Given the description of an element on the screen output the (x, y) to click on. 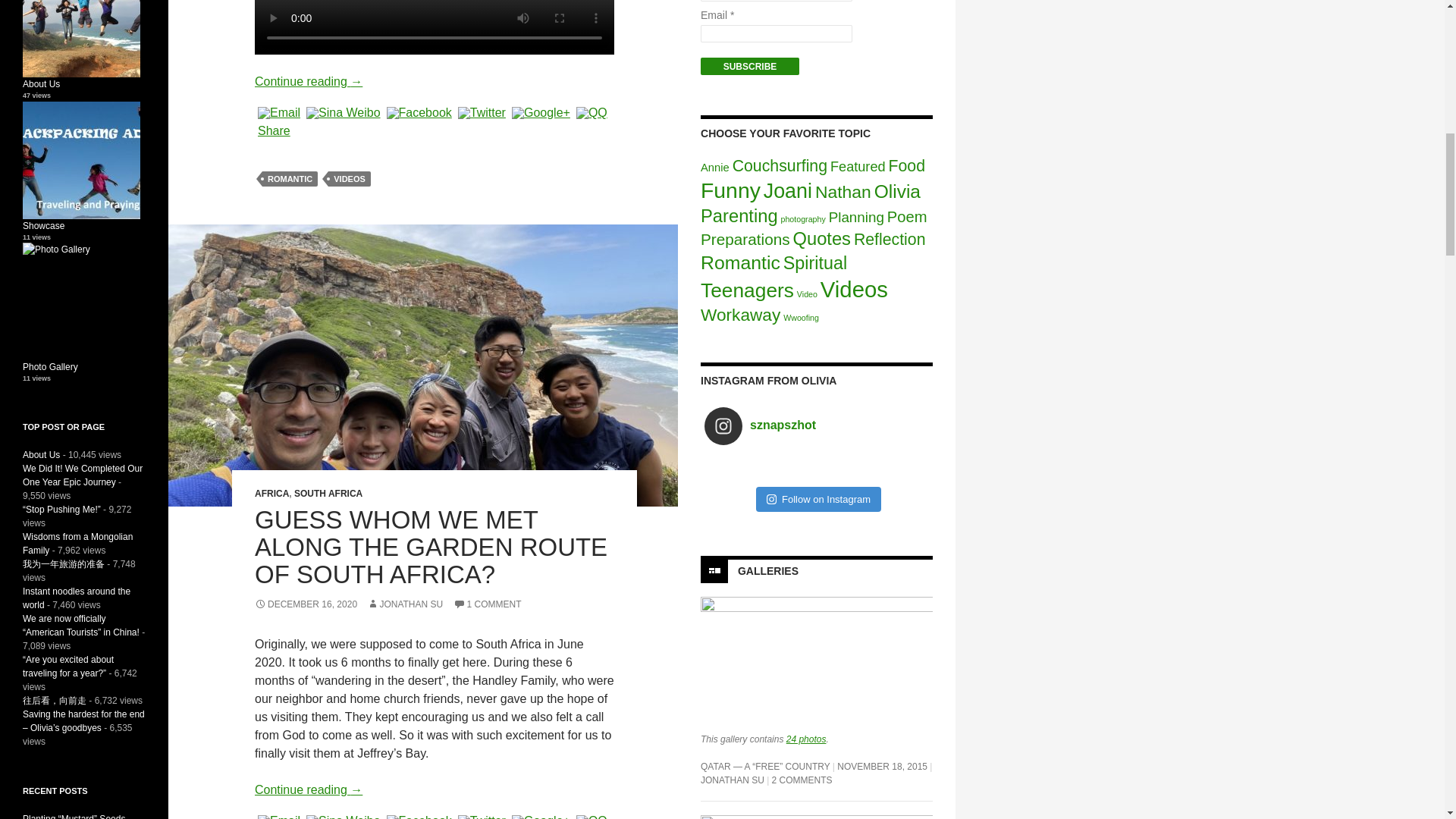
Subscribe (749, 66)
Twitter (481, 112)
Twitter (481, 816)
Facebook (419, 816)
Facebook (419, 112)
Email (278, 112)
QQ (591, 816)
Sina Weibo (343, 112)
QQ (591, 112)
Email (278, 816)
